Given the description of an element on the screen output the (x, y) to click on. 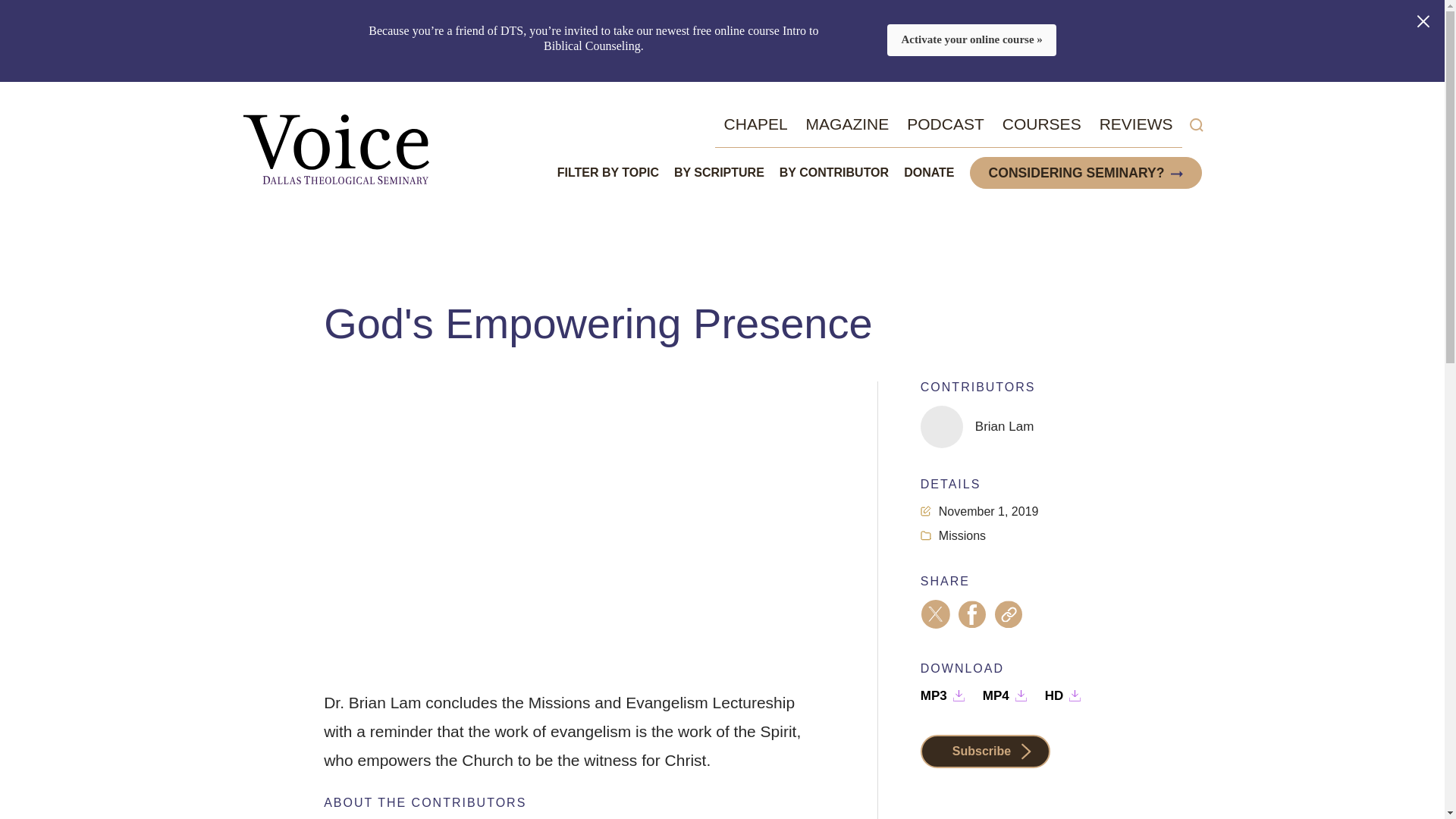
CONSIDERING SEMINARY? (1076, 173)
DONATE (928, 172)
PODCAST (945, 124)
HD (1063, 696)
REVIEWS (1136, 124)
BY CONTRIBUTOR (833, 172)
FILTER BY TOPIC (608, 172)
MP3 (941, 696)
MP4 (1004, 696)
COURSES (1042, 124)
Subscribe (984, 751)
CHAPEL (755, 124)
MAGAZINE (847, 124)
BY SCRIPTURE (719, 172)
search (1196, 124)
